Given the description of an element on the screen output the (x, y) to click on. 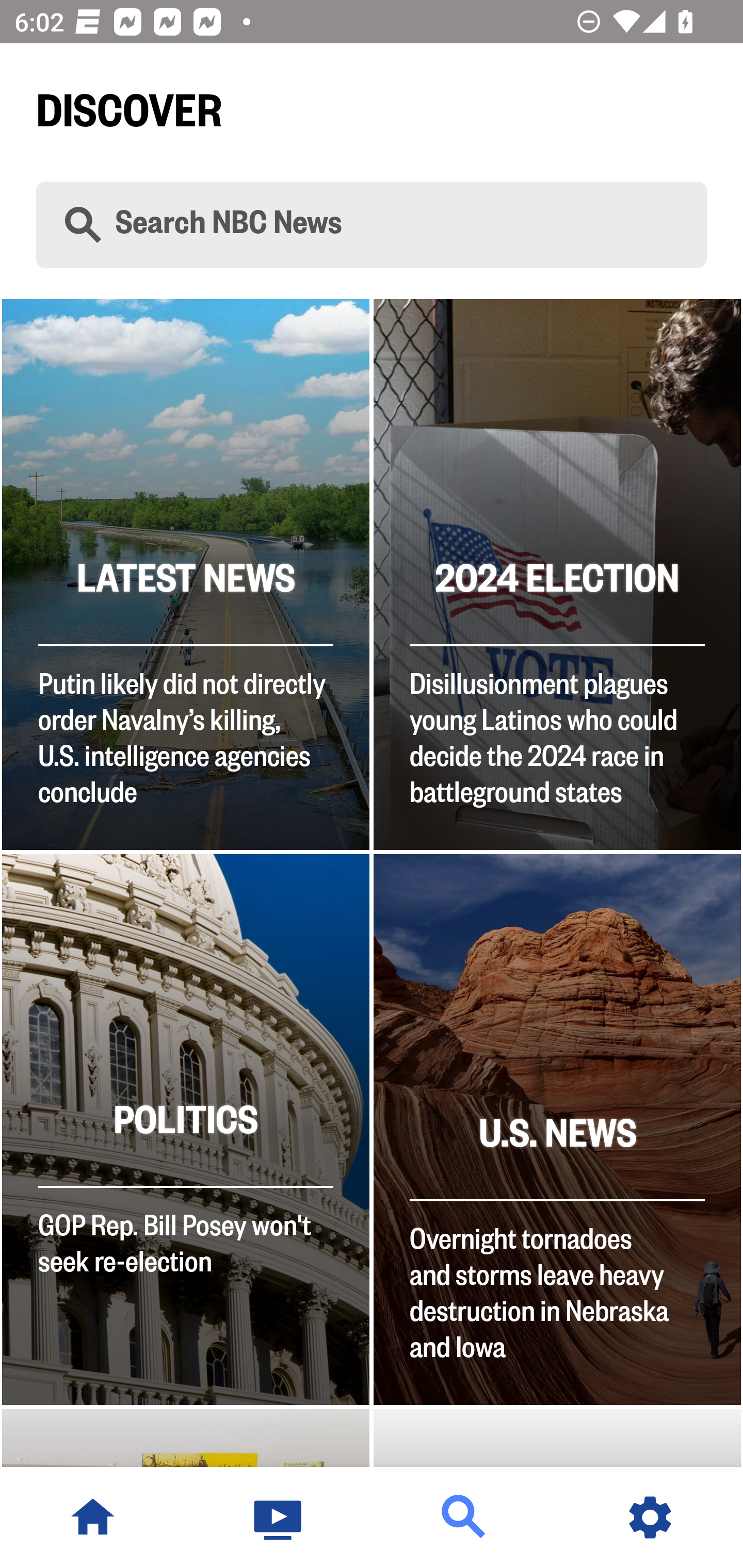
NBC News Home (92, 1517)
Watch (278, 1517)
Settings (650, 1517)
